Given the description of an element on the screen output the (x, y) to click on. 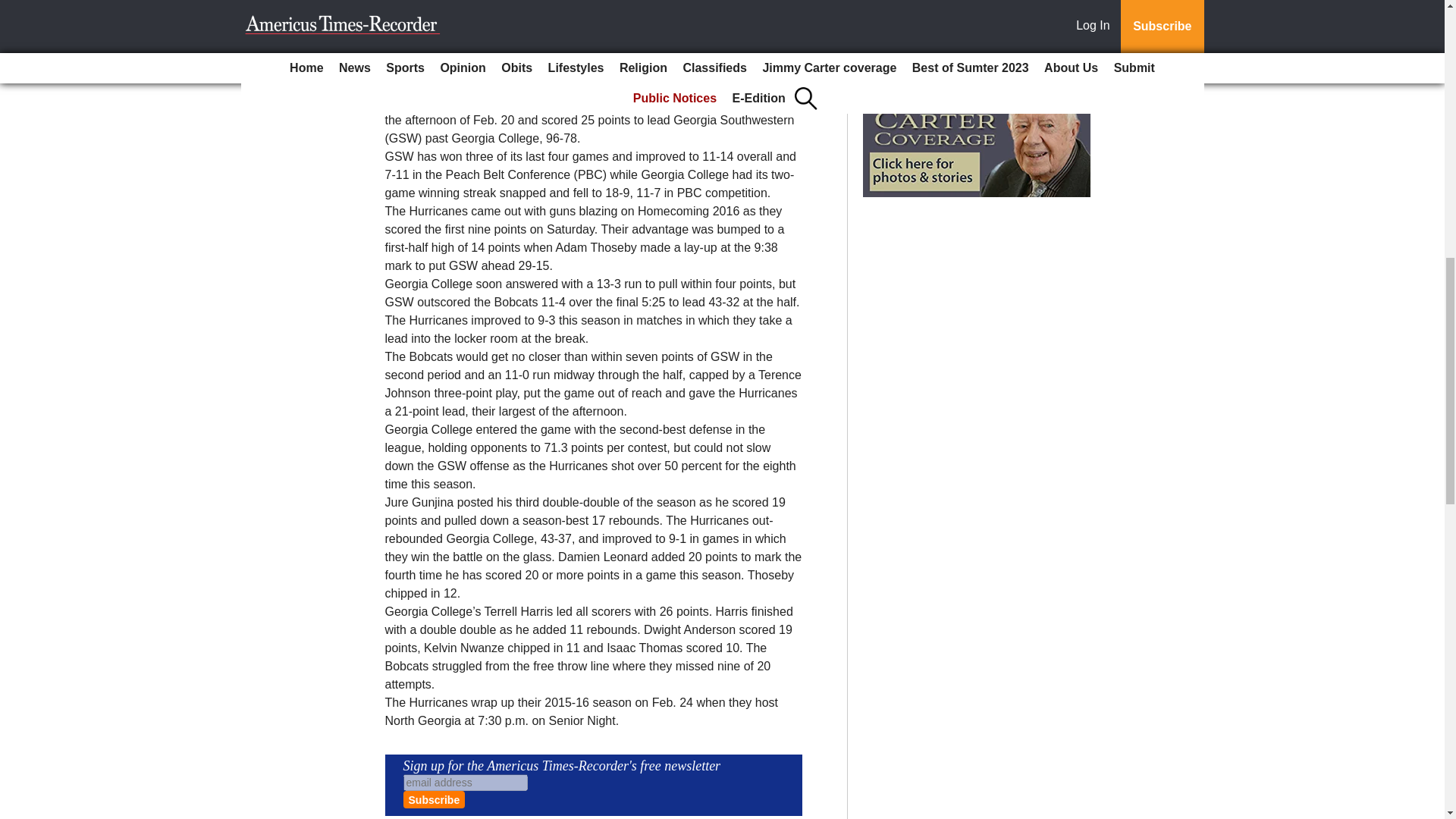
Subscribe (434, 799)
Subscribe (434, 799)
